Given the description of an element on the screen output the (x, y) to click on. 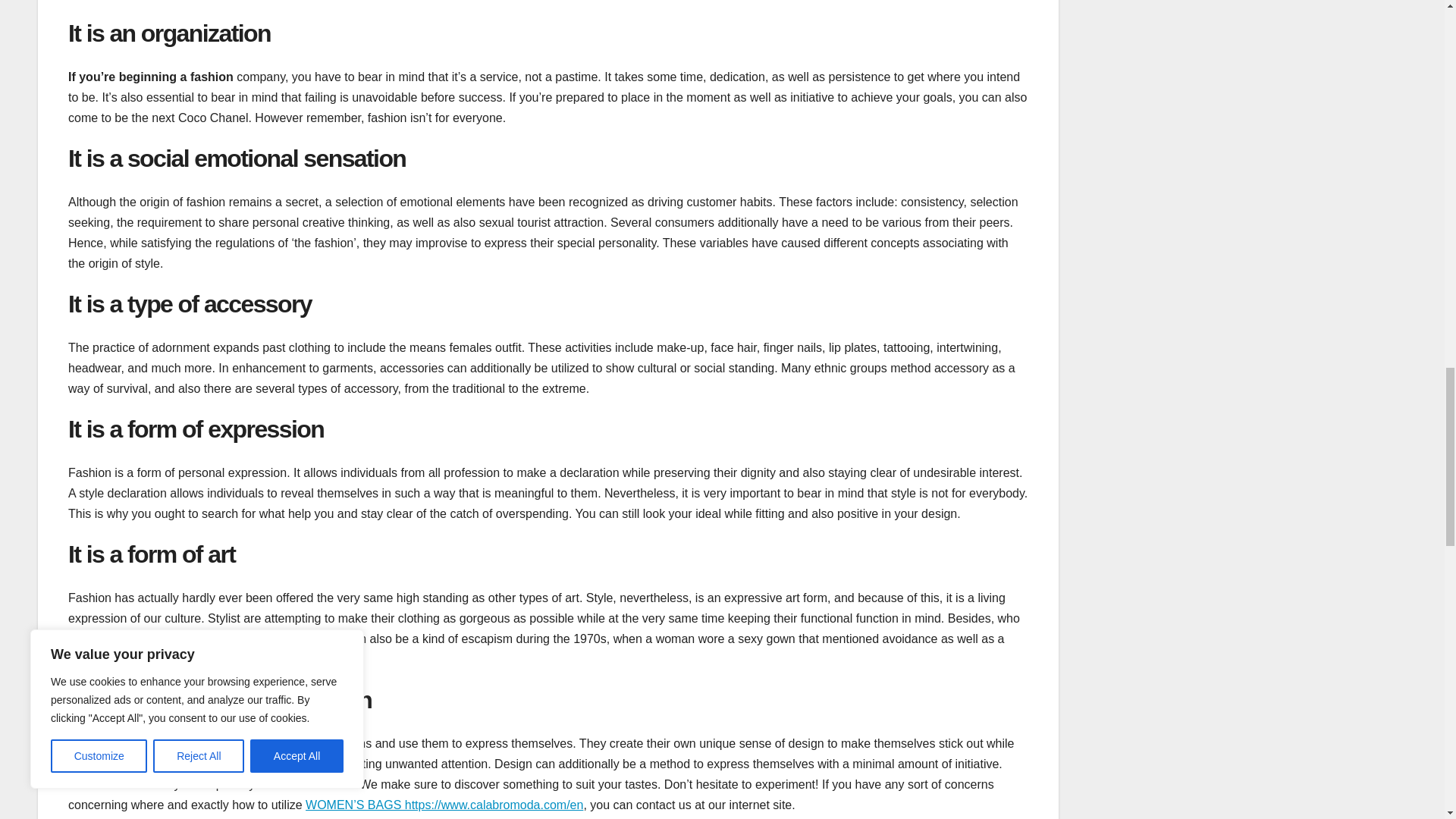
profession develop (222, 743)
